Given the description of an element on the screen output the (x, y) to click on. 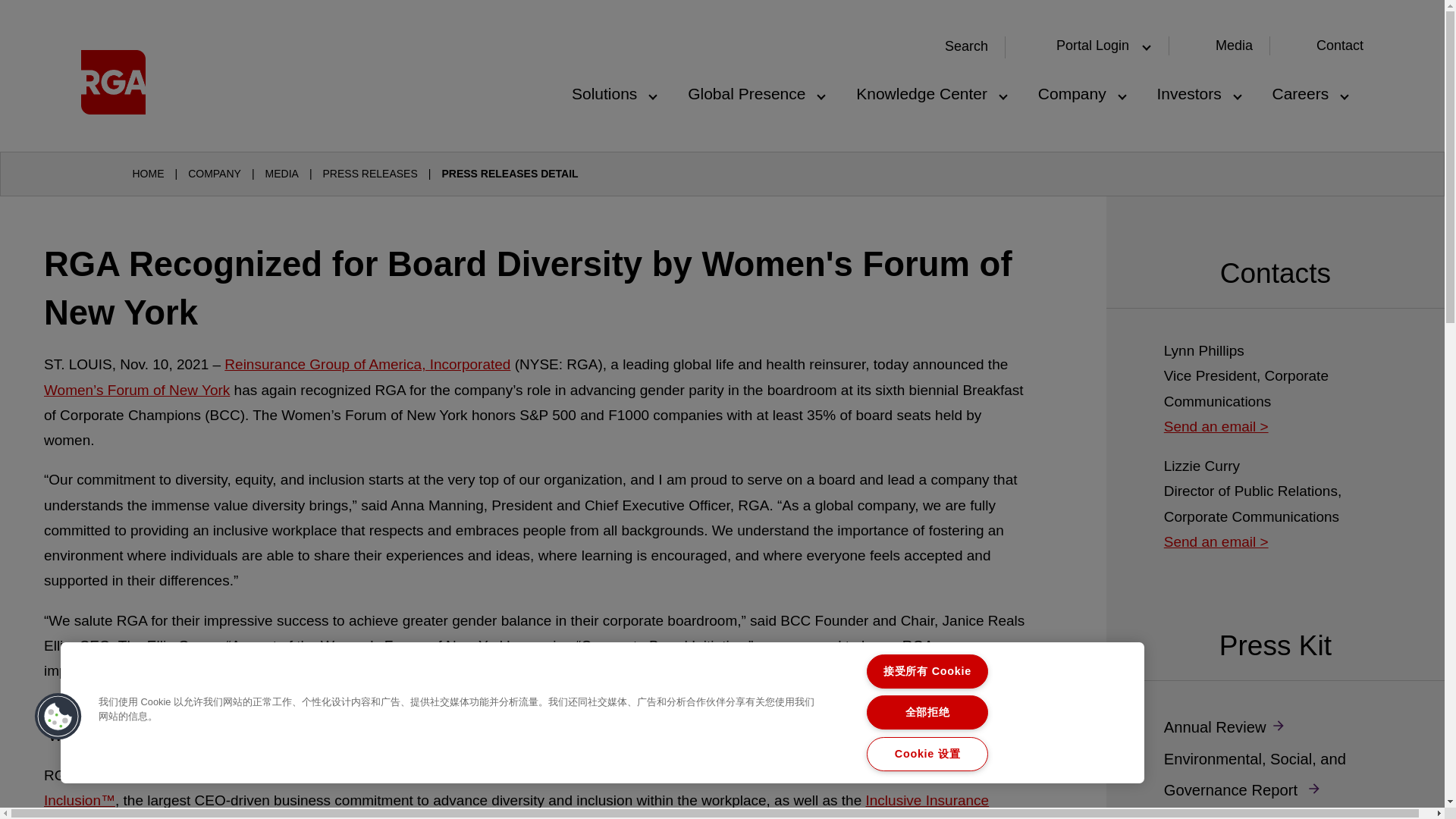
Global Presence (755, 89)
Knowledge Center (931, 89)
Media (1233, 45)
Solutions (613, 89)
Cookies Button (57, 717)
Portal Login (1088, 46)
Search (957, 47)
Contact (1339, 45)
Company (1081, 89)
